Given the description of an element on the screen output the (x, y) to click on. 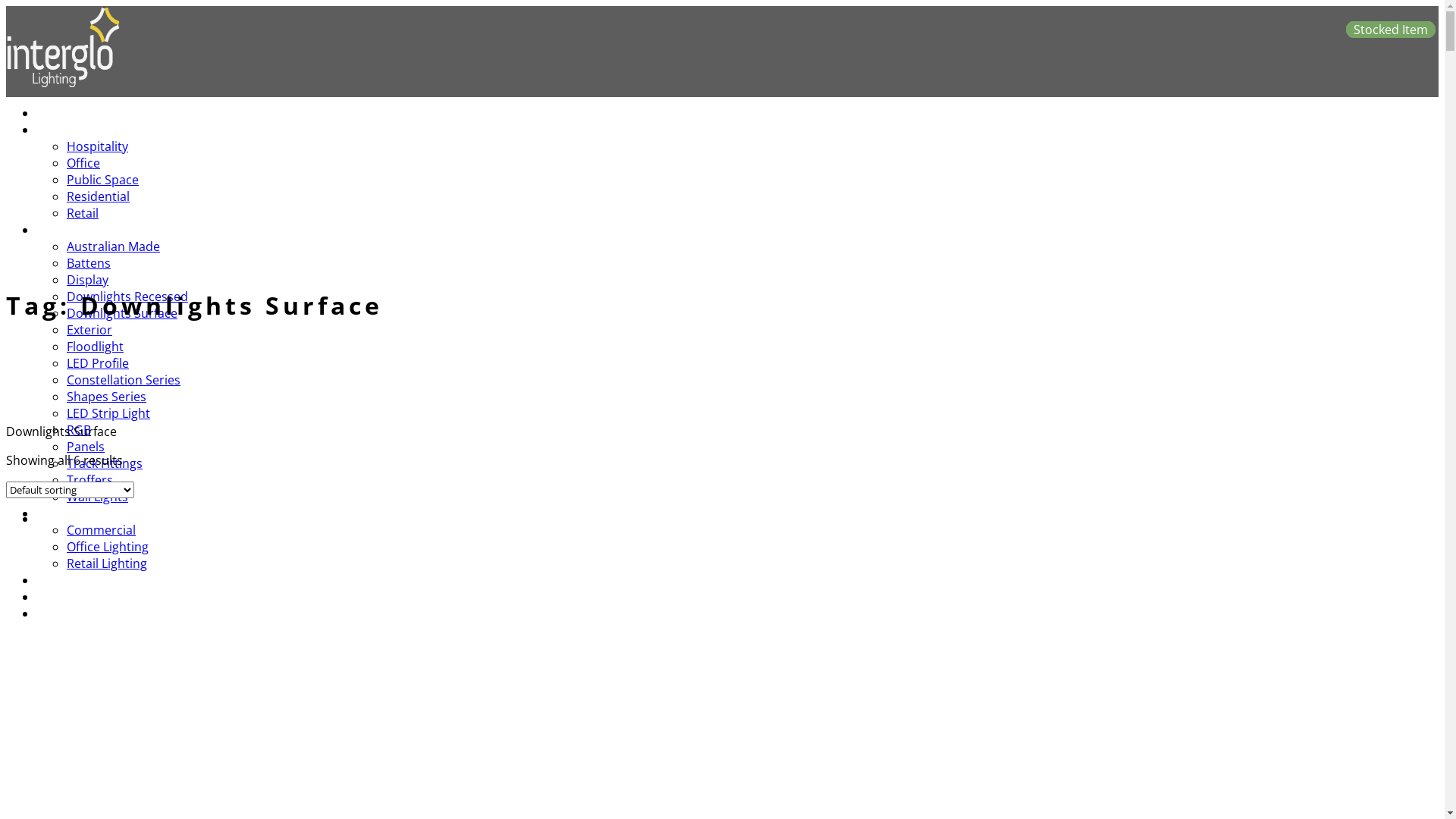
Wall Lights Element type: text (97, 496)
Constellation Series Element type: text (123, 379)
About Us Element type: text (74, 579)
Projects Element type: text (71, 129)
Retail Element type: text (82, 212)
LED Profile Element type: text (97, 362)
Troffers Element type: text (89, 479)
Home Element type: text (65, 112)
Products Element type: text (73, 229)
Articles Element type: text (68, 596)
Office Lighting Element type: text (107, 546)
Display Element type: text (87, 279)
Commercial Element type: text (100, 529)
Hospitality Element type: text (97, 146)
Interglo Element type: hover (62, 83)
Australian Made Element type: text (113, 246)
Battens Element type: text (88, 262)
Downlights Recessed Element type: text (127, 296)
Shapes Series Element type: text (106, 396)
Office Element type: text (83, 162)
Track Fittings Element type: text (104, 463)
Exterior Element type: text (89, 329)
RGB Element type: text (78, 429)
Downlights Surface Element type: text (121, 312)
Floodlight Element type: text (94, 346)
LED Strip Light Element type: text (108, 412)
Contact Us Element type: text (79, 613)
Retail Lighting Element type: text (106, 563)
Services Element type: text (71, 513)
Public Space Element type: text (102, 179)
Panels Element type: text (85, 446)
Residential Element type: text (97, 196)
